Given the description of an element on the screen output the (x, y) to click on. 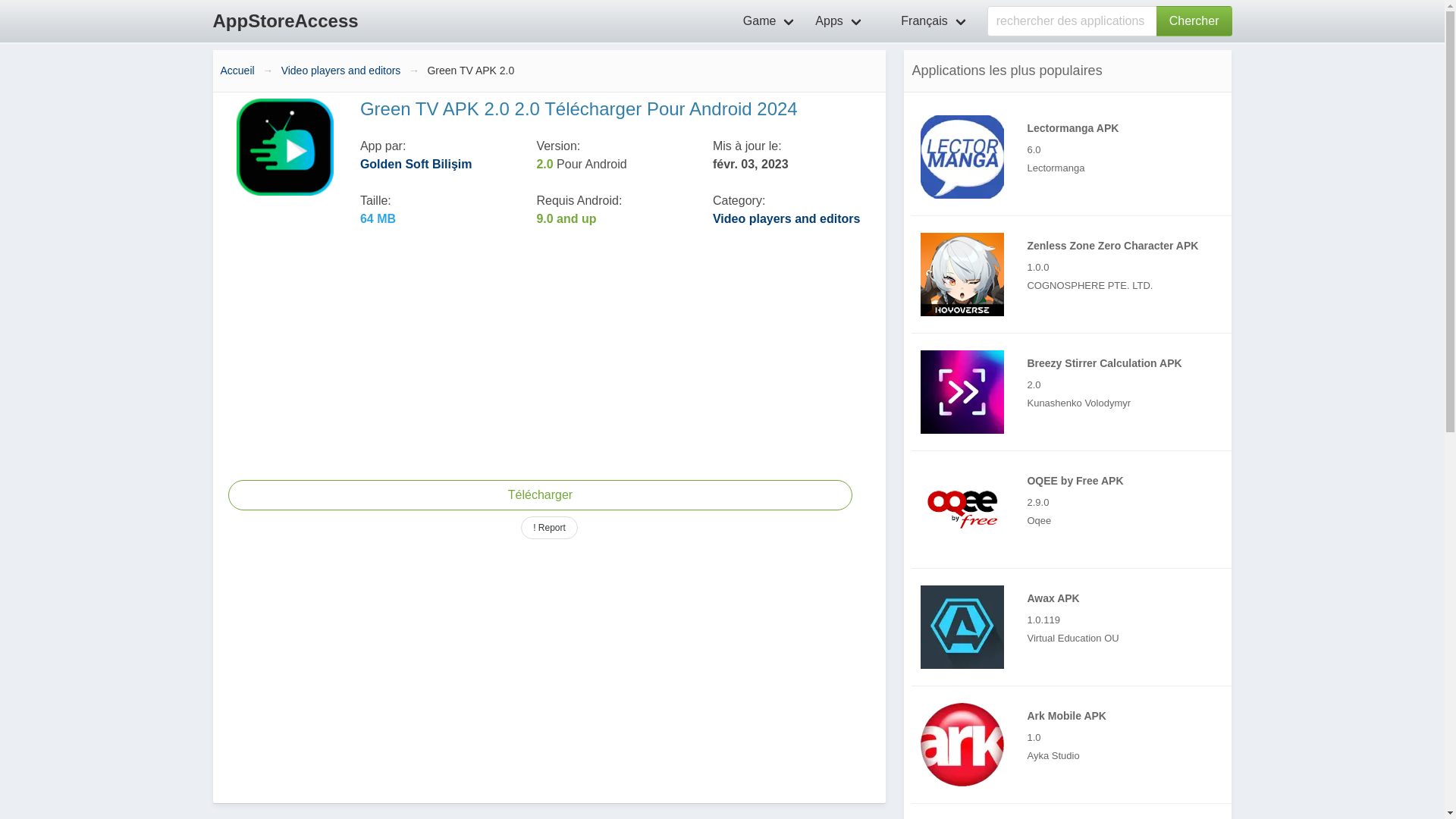
AppStoreAccess (284, 21)
Breezy Stirrer Calculation APK (1075, 392)
OQEE by Free APK (1075, 509)
OQEE by Free APK (962, 509)
Zenless Zone Zero Character APK (962, 274)
Awax APK (962, 627)
Breezy Stirrer Calculation APK (962, 392)
Apps (839, 21)
